Given the description of an element on the screen output the (x, y) to click on. 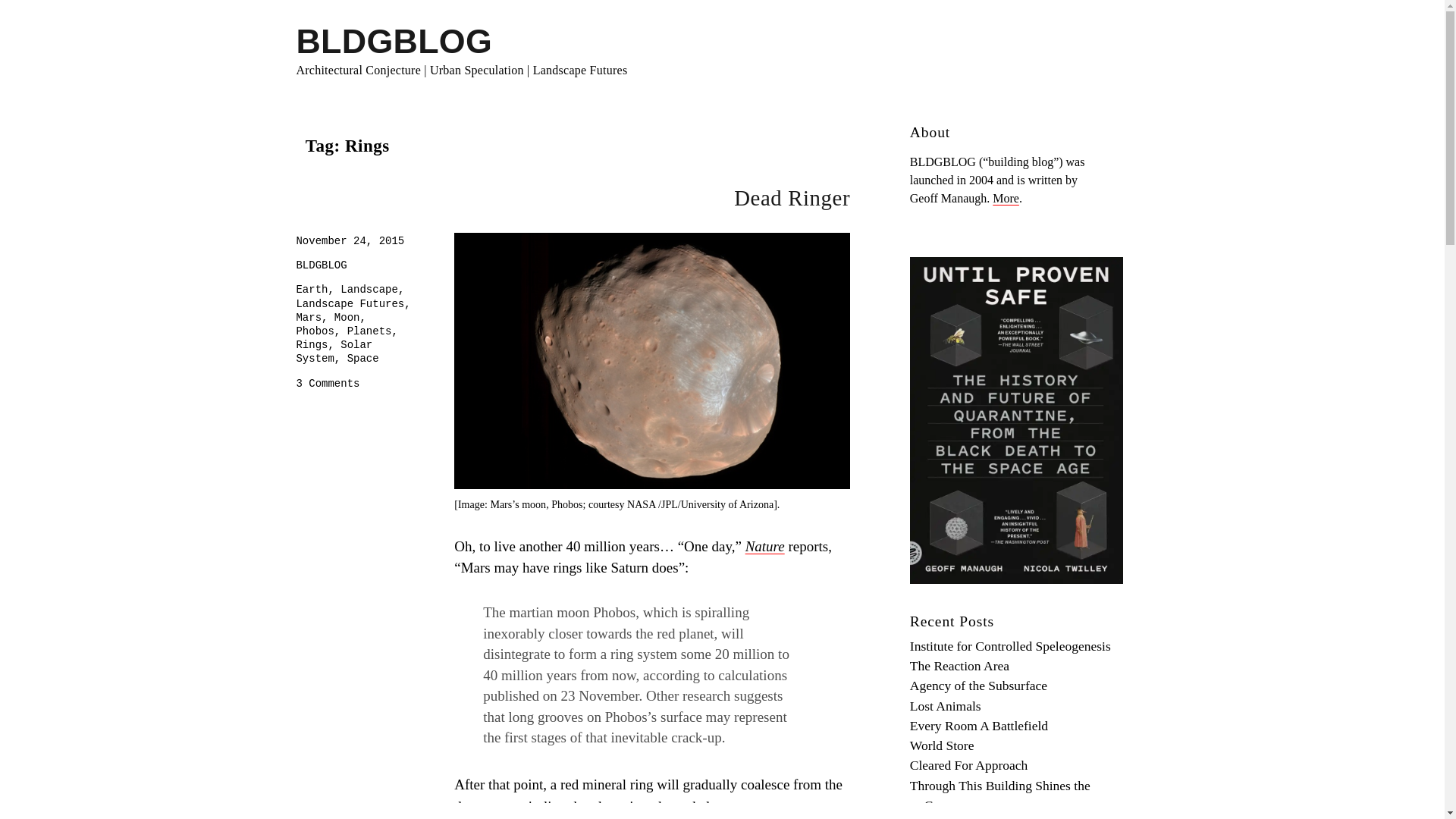
BLDGBLOG (320, 265)
More (1005, 197)
Phobos (314, 331)
Landscape Futures (327, 383)
Solar System (349, 304)
Cleared For Approach (333, 351)
Moon (968, 765)
World Store (346, 317)
Landscape (942, 744)
